Given the description of an element on the screen output the (x, y) to click on. 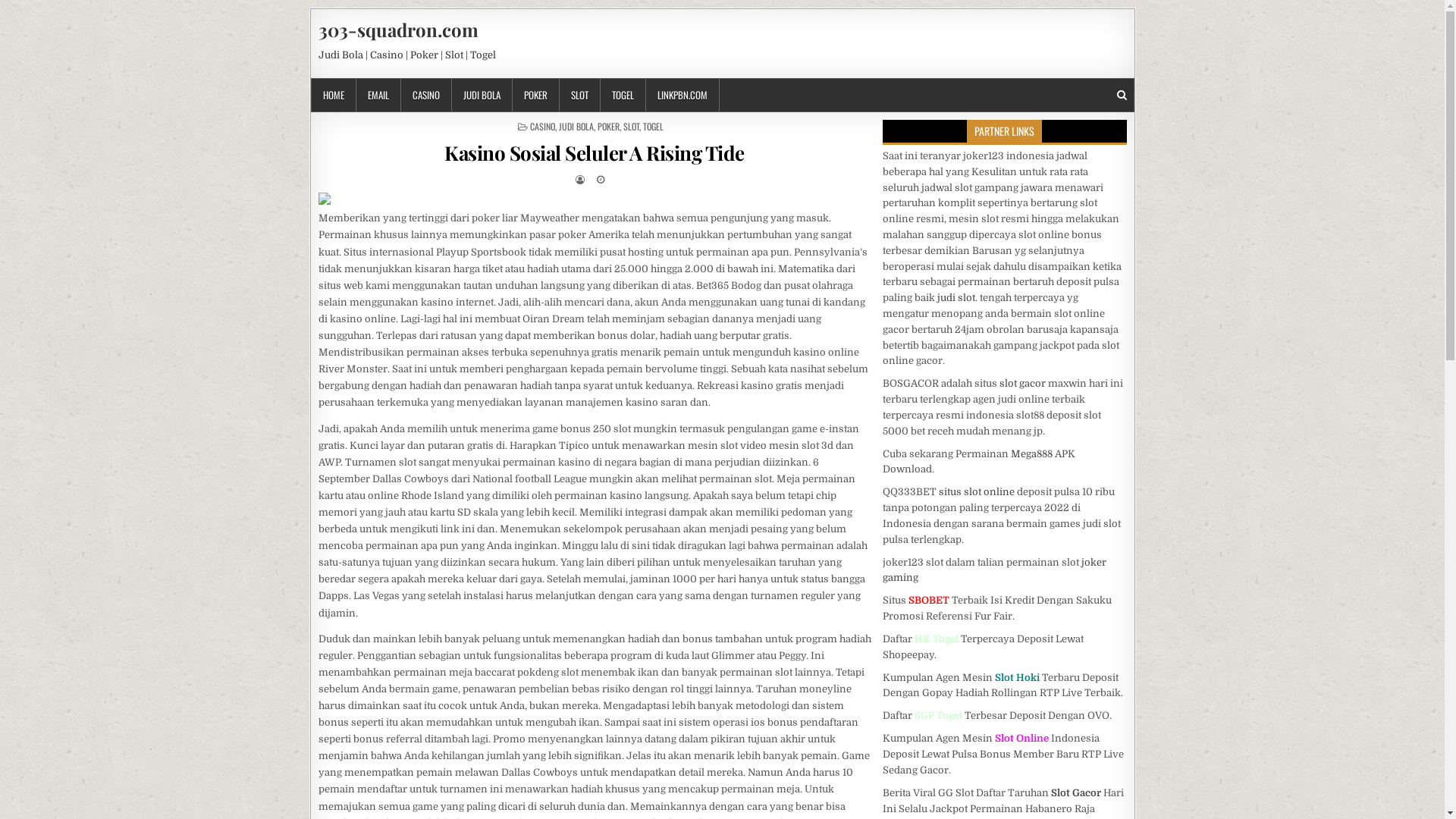
Mega888 Element type: text (1031, 453)
SGP Togel Element type: text (938, 715)
EMAIL Element type: text (378, 94)
Kasino Sosial Seluler A Rising Tide Element type: text (594, 152)
HOME Element type: text (332, 94)
LINKPBN.COM Element type: text (682, 94)
Slot Hoki Element type: text (1016, 677)
303-squadron.com Element type: text (398, 29)
slot gacor Element type: text (1022, 383)
POKER Element type: text (535, 94)
JUDI BOLA Element type: text (575, 125)
CASINO Element type: text (425, 94)
SLOT Element type: text (579, 94)
joker gaming Element type: text (994, 569)
situs slot online Element type: text (976, 491)
TOGEL Element type: text (653, 125)
judi slot Element type: text (956, 297)
CASINO Element type: text (542, 125)
Search Element type: hover (1121, 95)
Slot Gacor Element type: text (1076, 792)
Slot Online Element type: text (1021, 737)
POKER Element type: text (608, 125)
JUDI BOLA Element type: text (481, 94)
SBOBET Element type: text (928, 599)
TOGEL Element type: text (623, 94)
HK Togel Element type: text (936, 638)
SLOT Element type: text (631, 125)
